Given the description of an element on the screen output the (x, y) to click on. 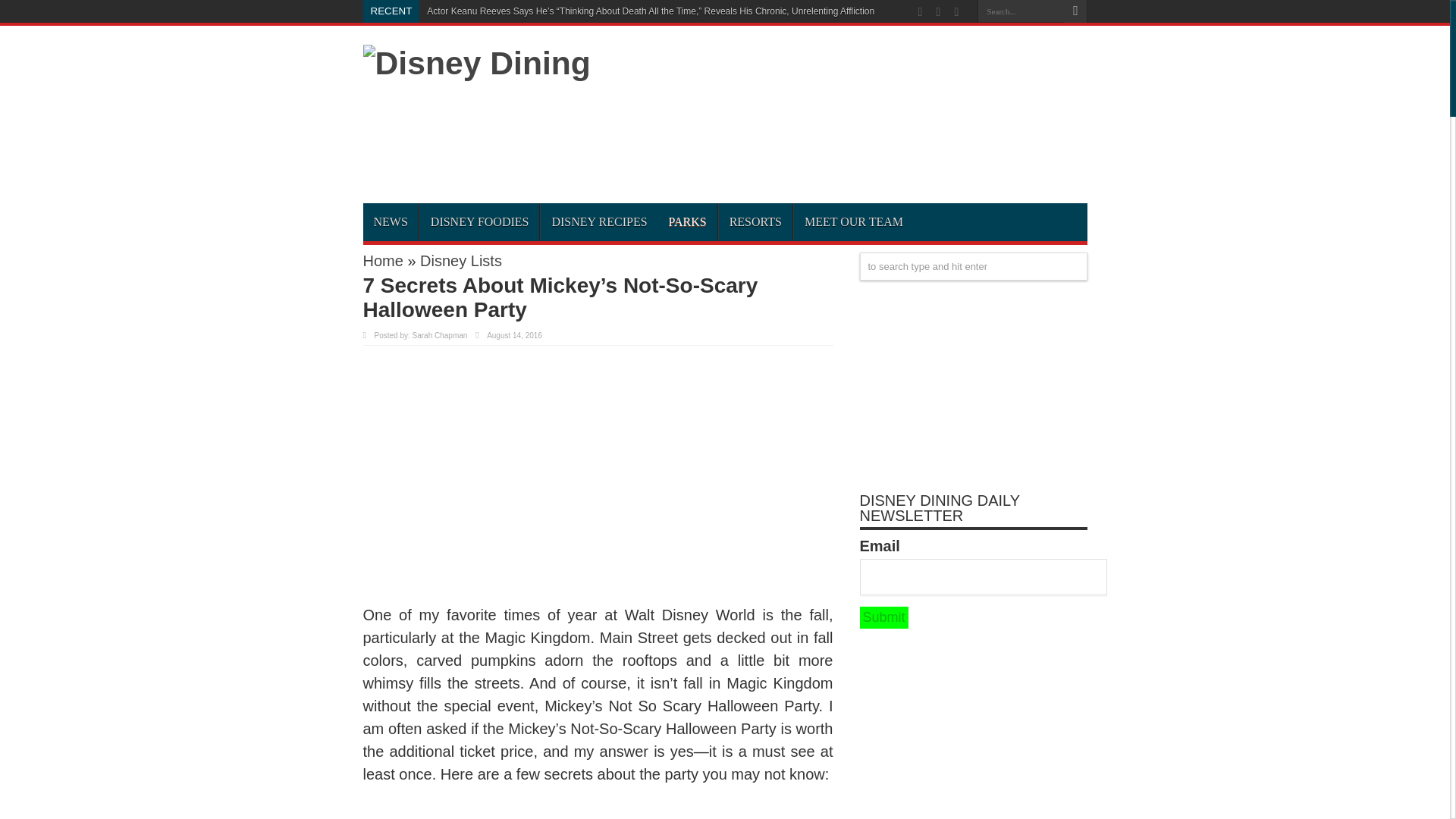
Rss (920, 11)
Facebook (938, 11)
Disney Dining (475, 63)
Search (1075, 11)
Home (382, 260)
Sarah Chapman (439, 335)
PARKS (687, 221)
DISNEY FOODIES (479, 221)
to search type and hit enter (973, 266)
NEWS (389, 221)
DISNEY RECIPES (599, 221)
Disney Lists (461, 260)
MEET OUR TEAM (853, 221)
RESORTS (754, 221)
Twitter (956, 11)
